Given the description of an element on the screen output the (x, y) to click on. 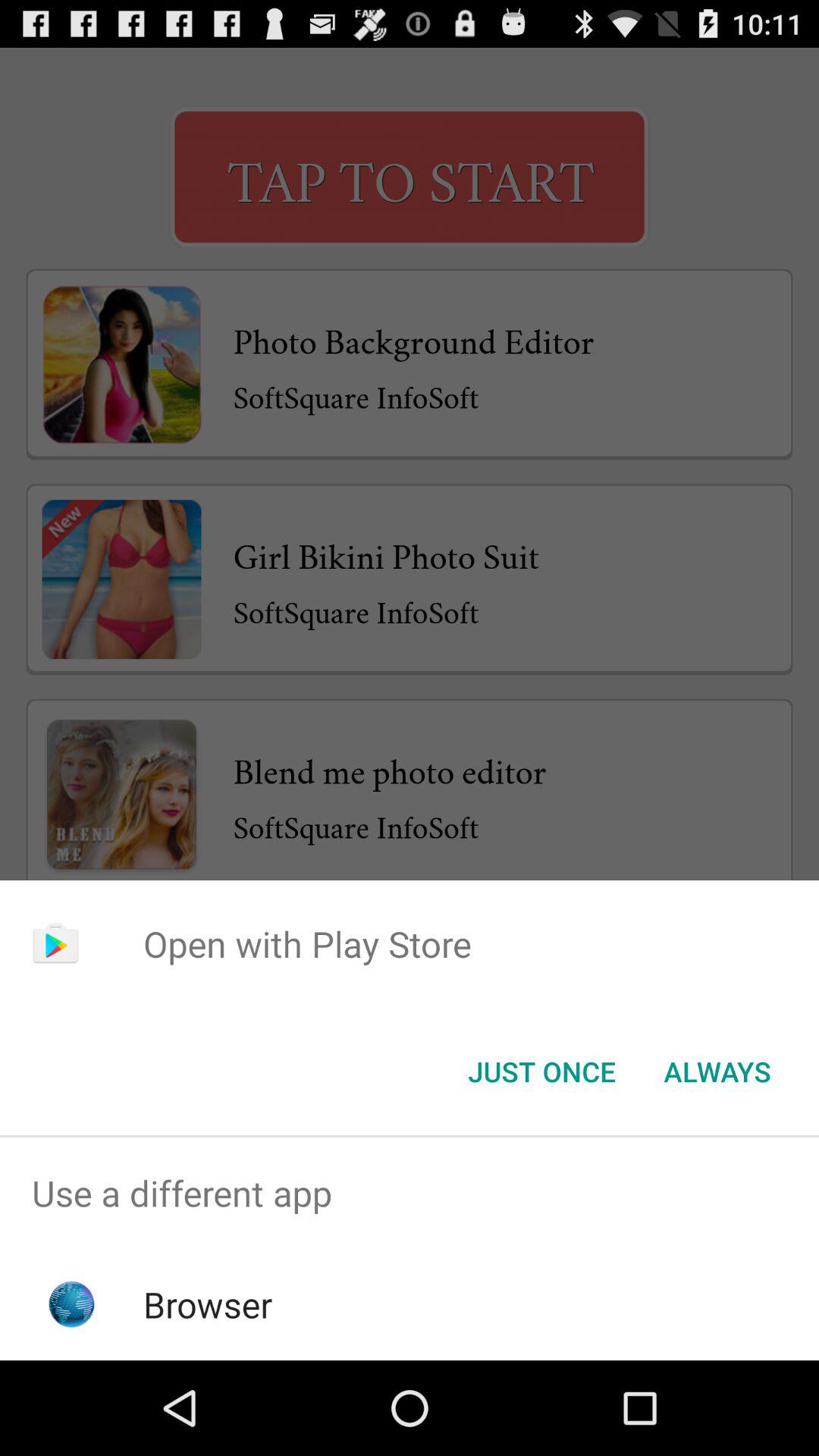
scroll until use a different item (409, 1192)
